Given the description of an element on the screen output the (x, y) to click on. 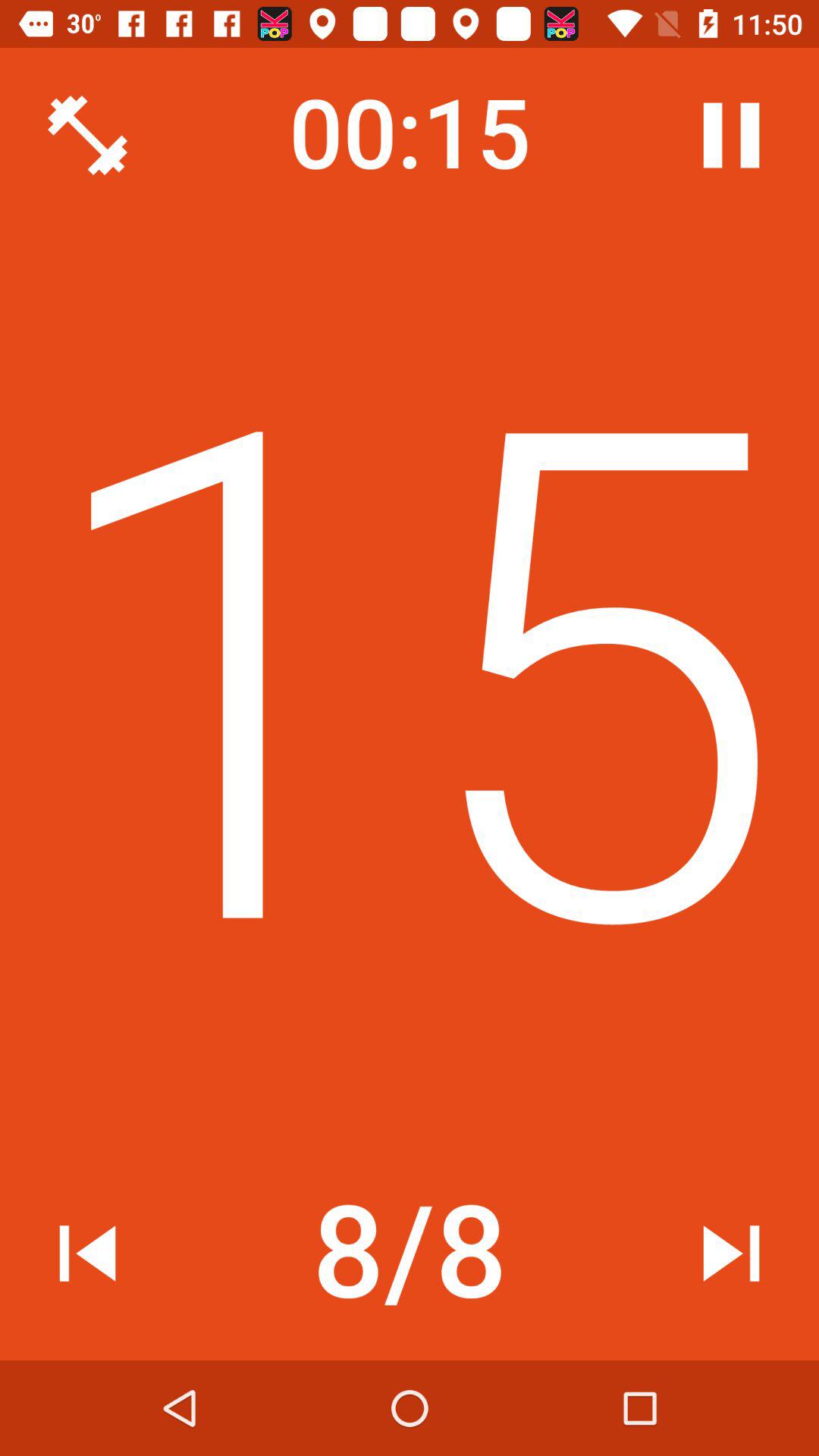
open the item to the right of the 8/8 (731, 1253)
